Given the description of an element on the screen output the (x, y) to click on. 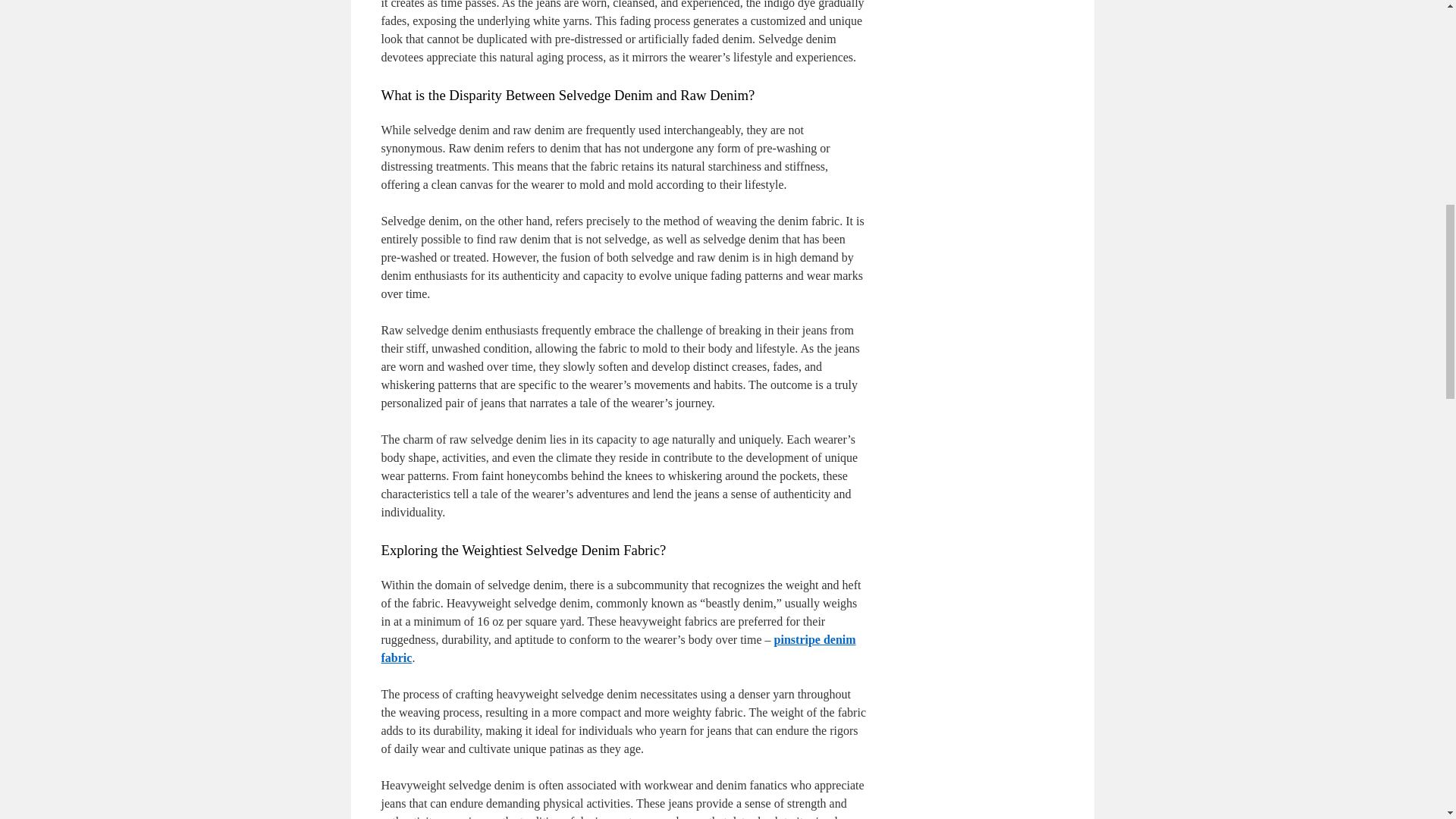
pinstripe denim fabric (618, 648)
